Given the description of an element on the screen output the (x, y) to click on. 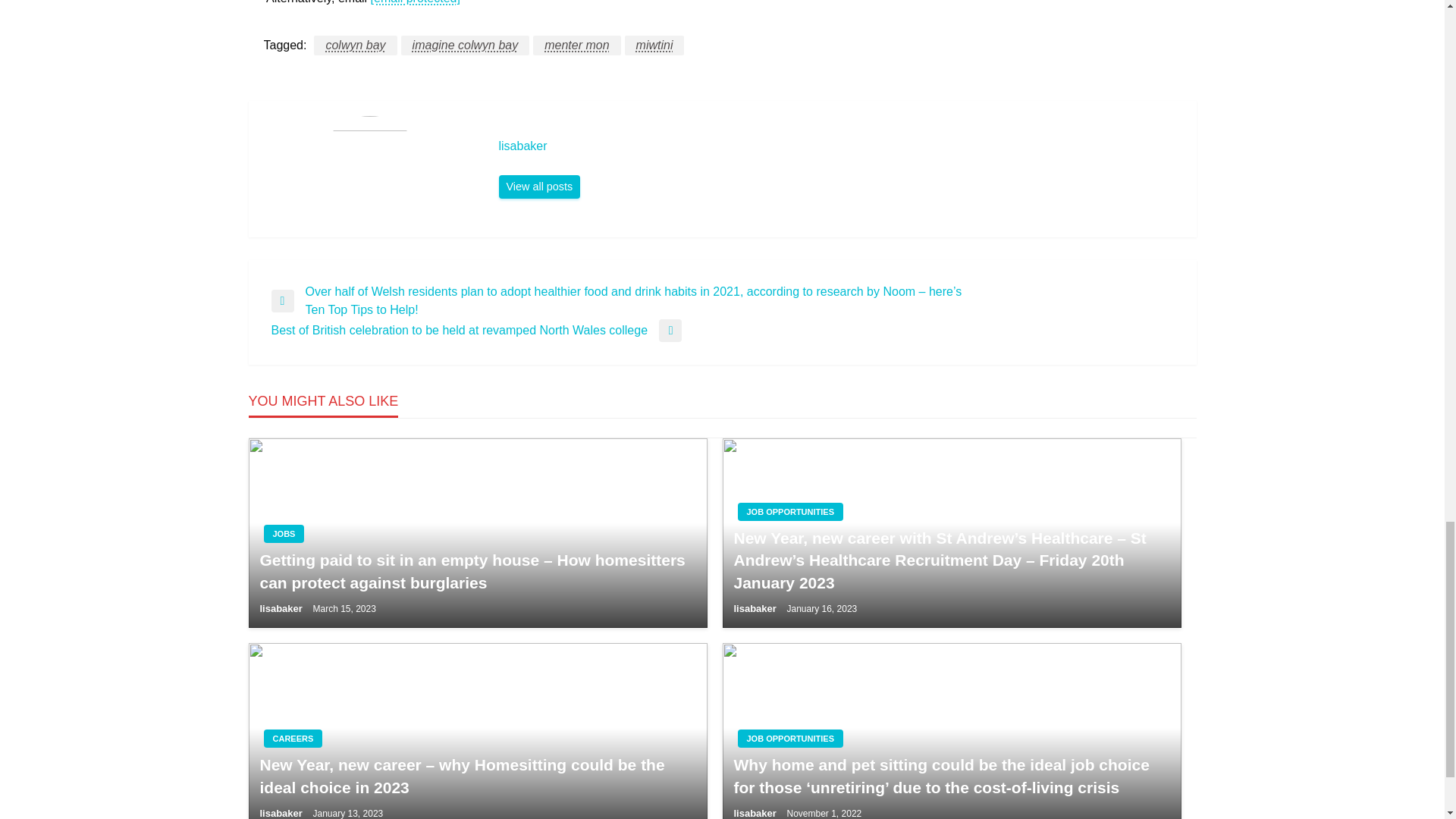
lisabaker (839, 145)
lisabaker (539, 187)
